Given the description of an element on the screen output the (x, y) to click on. 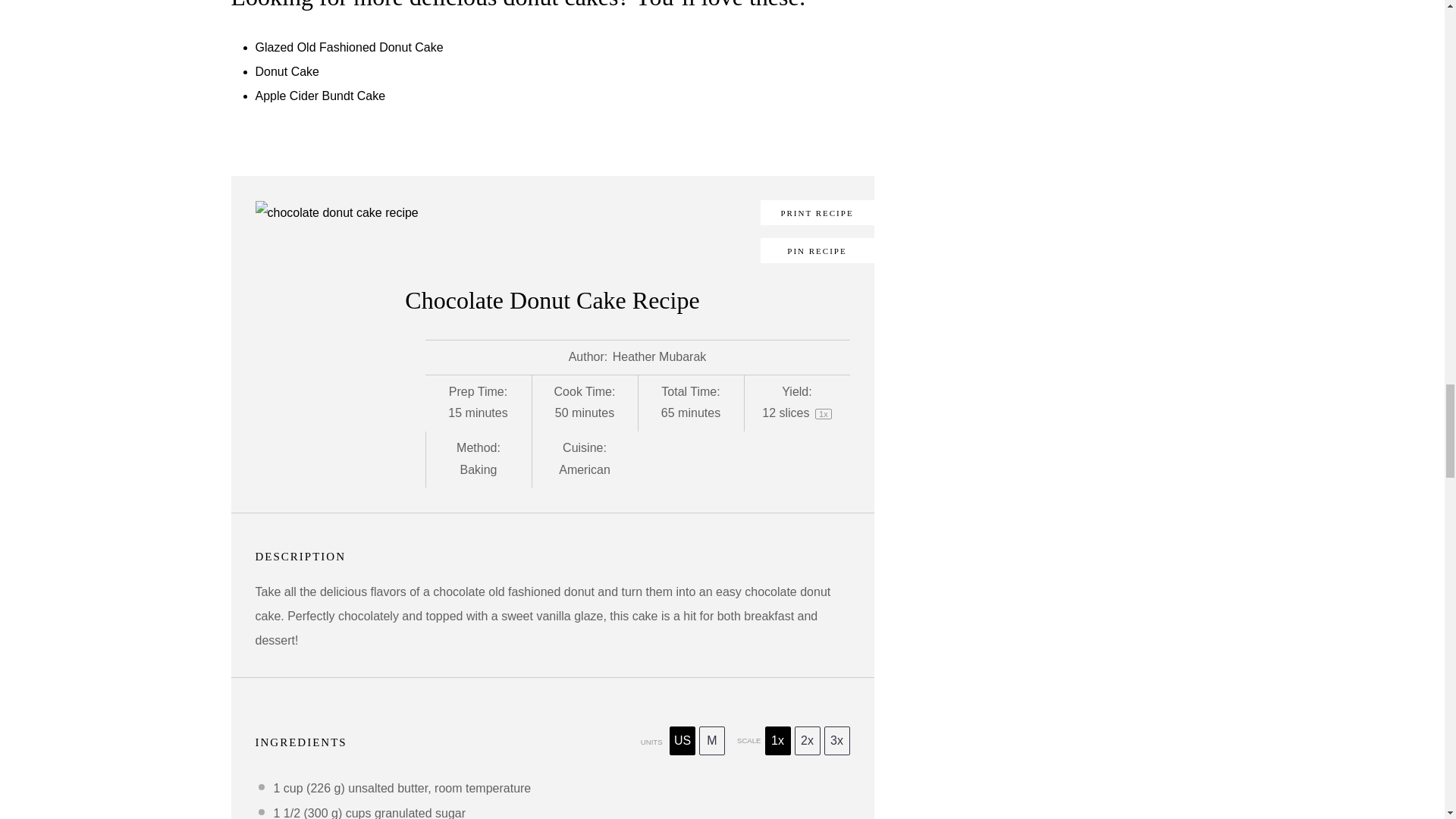
Apple Cider Bundt Cake (319, 95)
Glazed Old Fashioned Donut Cake (348, 47)
PRINT RECIPE (816, 212)
Donut Cake (286, 71)
